Given the description of an element on the screen output the (x, y) to click on. 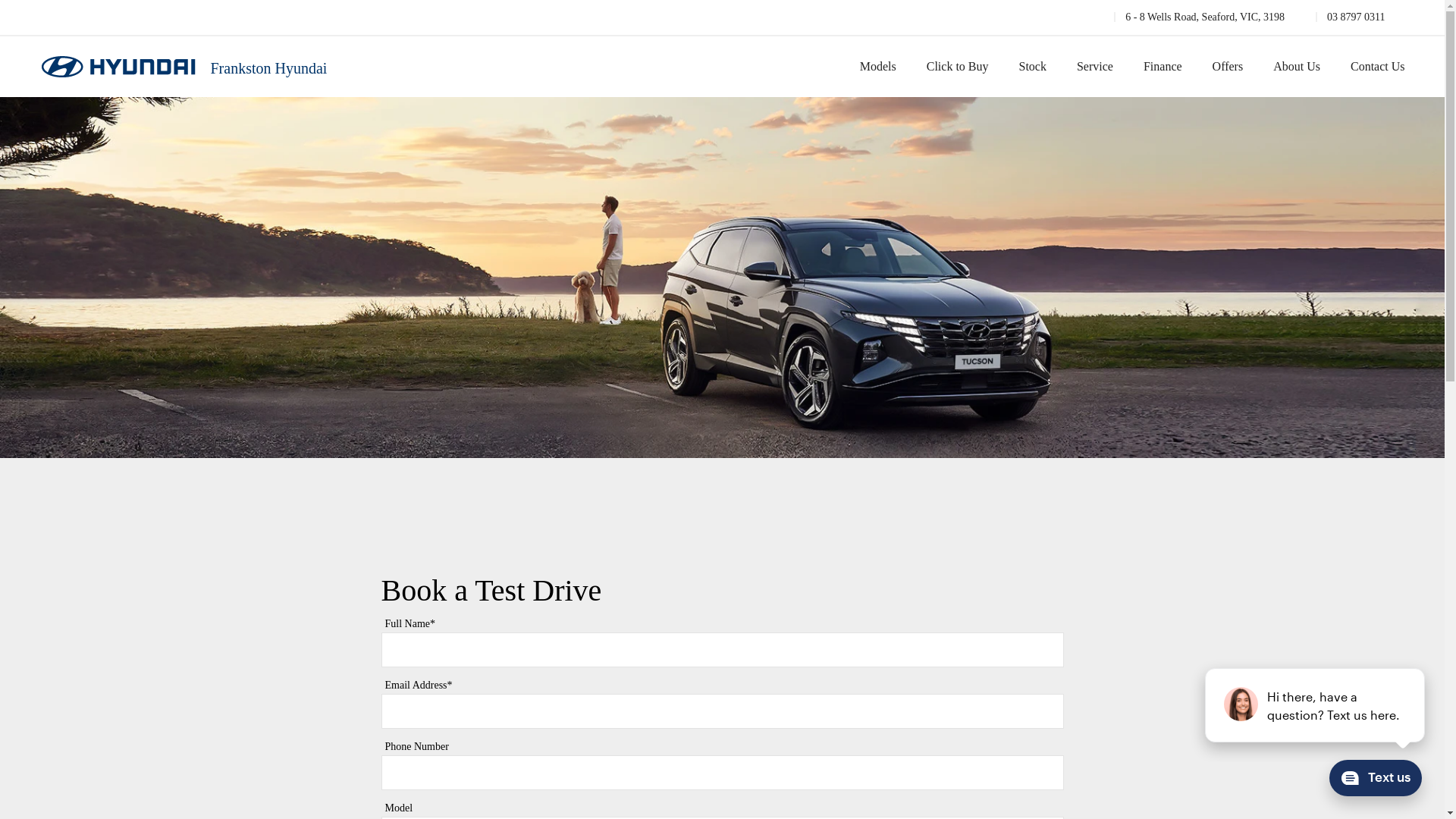
Frankston Hyundai Element type: text (182, 66)
03 8797 0311 Element type: text (1349, 17)
Service Element type: text (1094, 66)
Models Element type: text (877, 66)
Stock Element type: text (1032, 66)
Contact Us Element type: text (1370, 66)
6 - 8 Wells Road, Seaford, VIC, 3198 Element type: text (1198, 17)
Click to Buy Element type: text (957, 66)
Finance Element type: text (1162, 66)
Offers Element type: text (1227, 66)
About Us Element type: text (1296, 66)
podium webchat widget prompt Element type: hover (1315, 705)
